Given the description of an element on the screen output the (x, y) to click on. 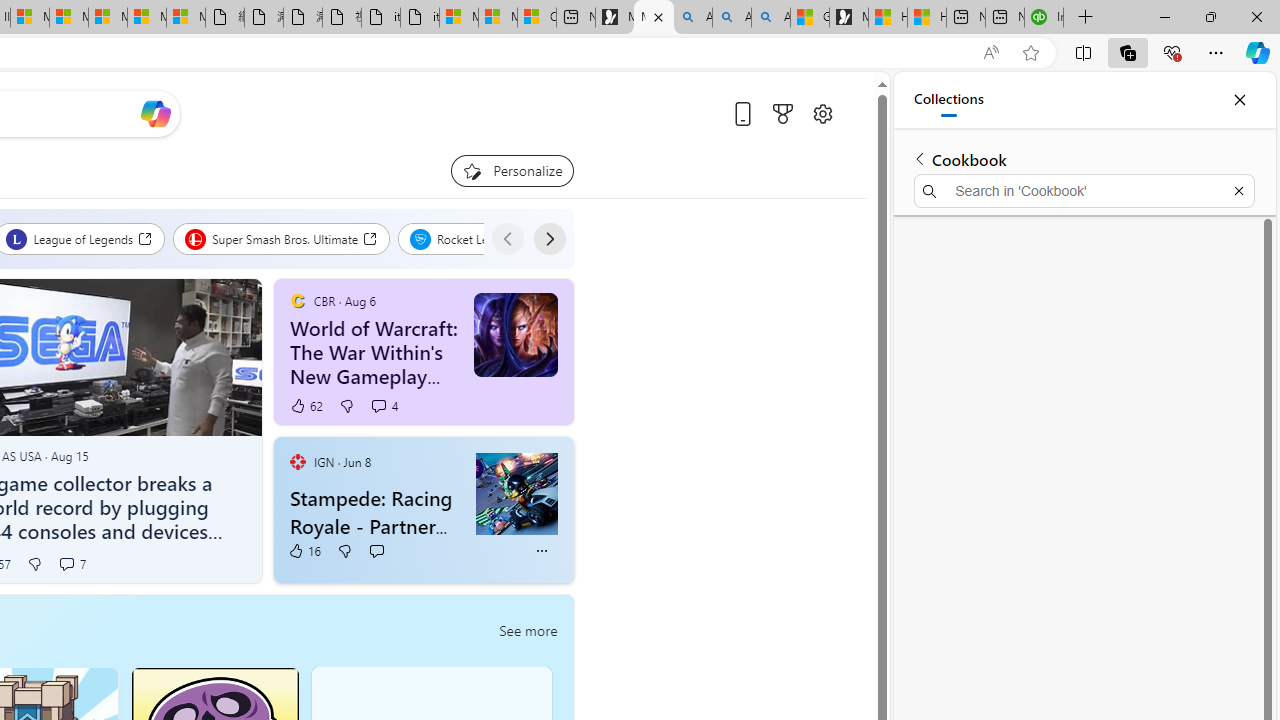
Search in 'Cookbook' (1084, 190)
Personalize your feed" (511, 170)
View comments 7 Comment (71, 564)
Consumer Health Data Privacy Policy (536, 17)
Intuit QuickBooks Online - Quickbooks (1044, 17)
View comments 4 Comment (383, 405)
How to Use a TV as a Computer Monitor (926, 17)
Stampede: Racing Royale - Partner Spotlight | IGN Live (378, 511)
